Given the description of an element on the screen output the (x, y) to click on. 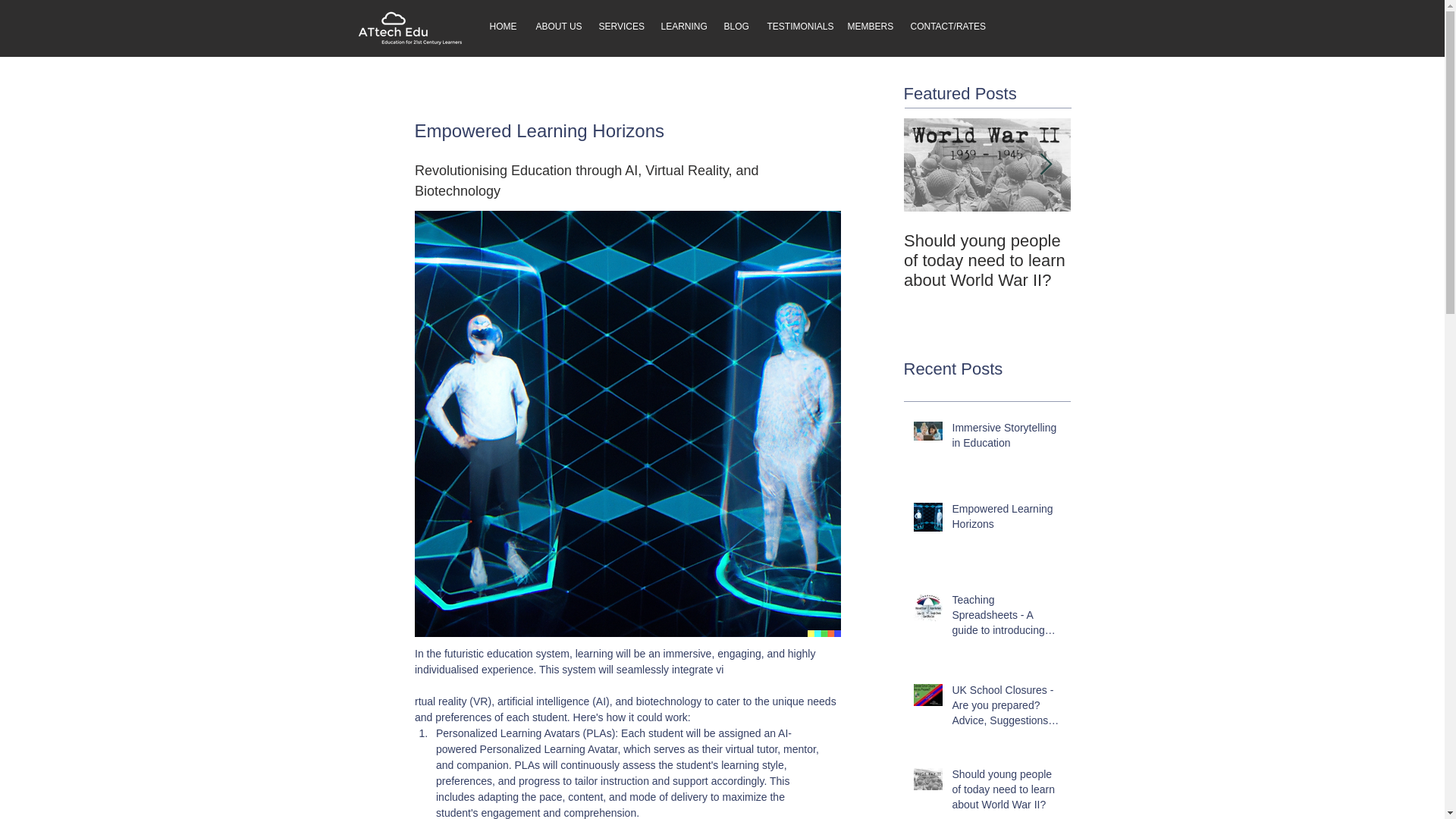
SERVICES (617, 26)
ABOUT US (556, 26)
Immersive Storytelling in Education (1006, 438)
BLOG (734, 26)
Breaking down the Coding Barriers for our Teachers (1153, 260)
MEMBERS (866, 26)
Empowered Learning Horizons (1006, 519)
HOME (500, 26)
TESTIMONIALS (795, 26)
